Given the description of an element on the screen output the (x, y) to click on. 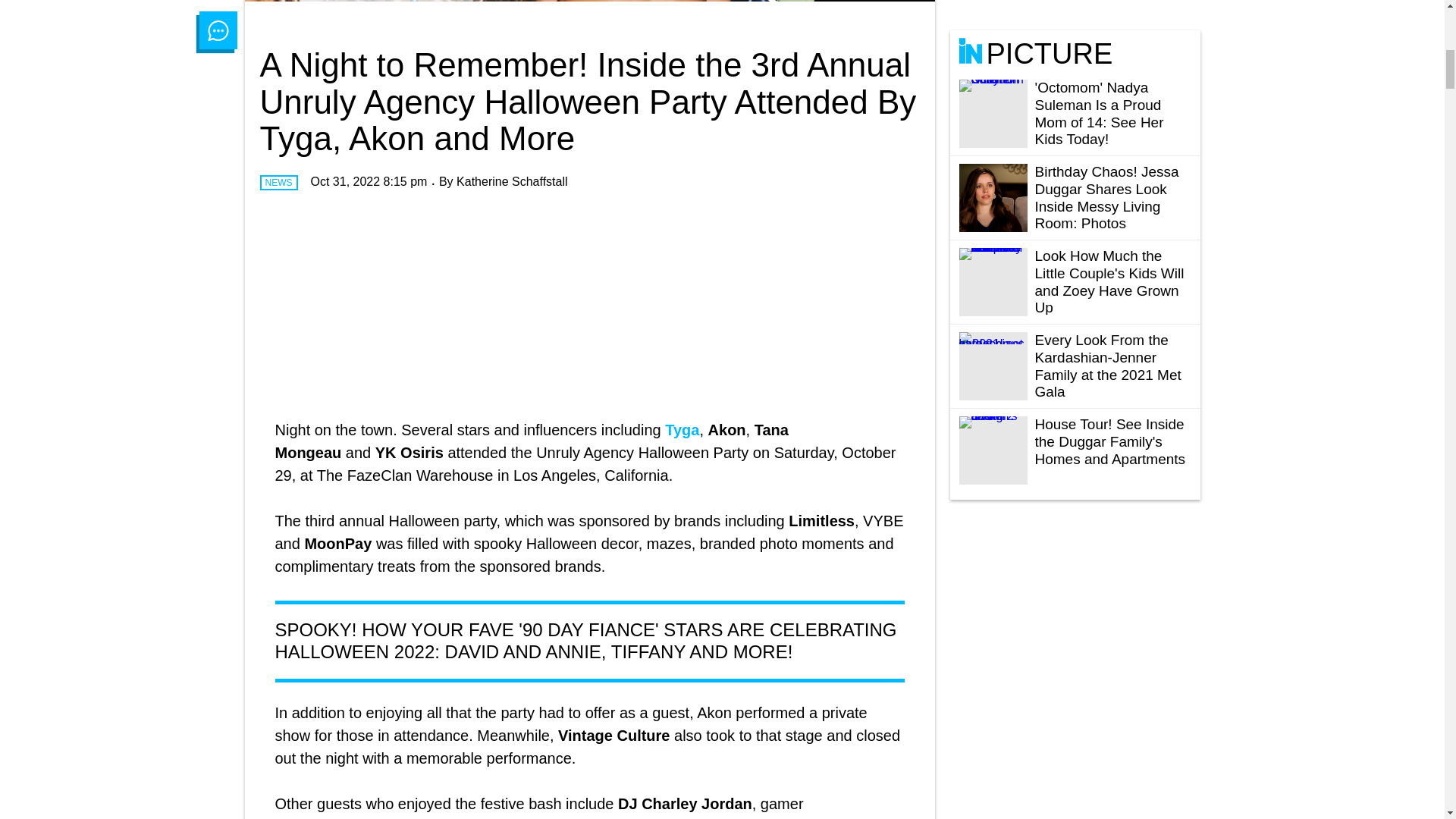
Posts by Katherine Schaffstall (512, 181)
